Given the description of an element on the screen output the (x, y) to click on. 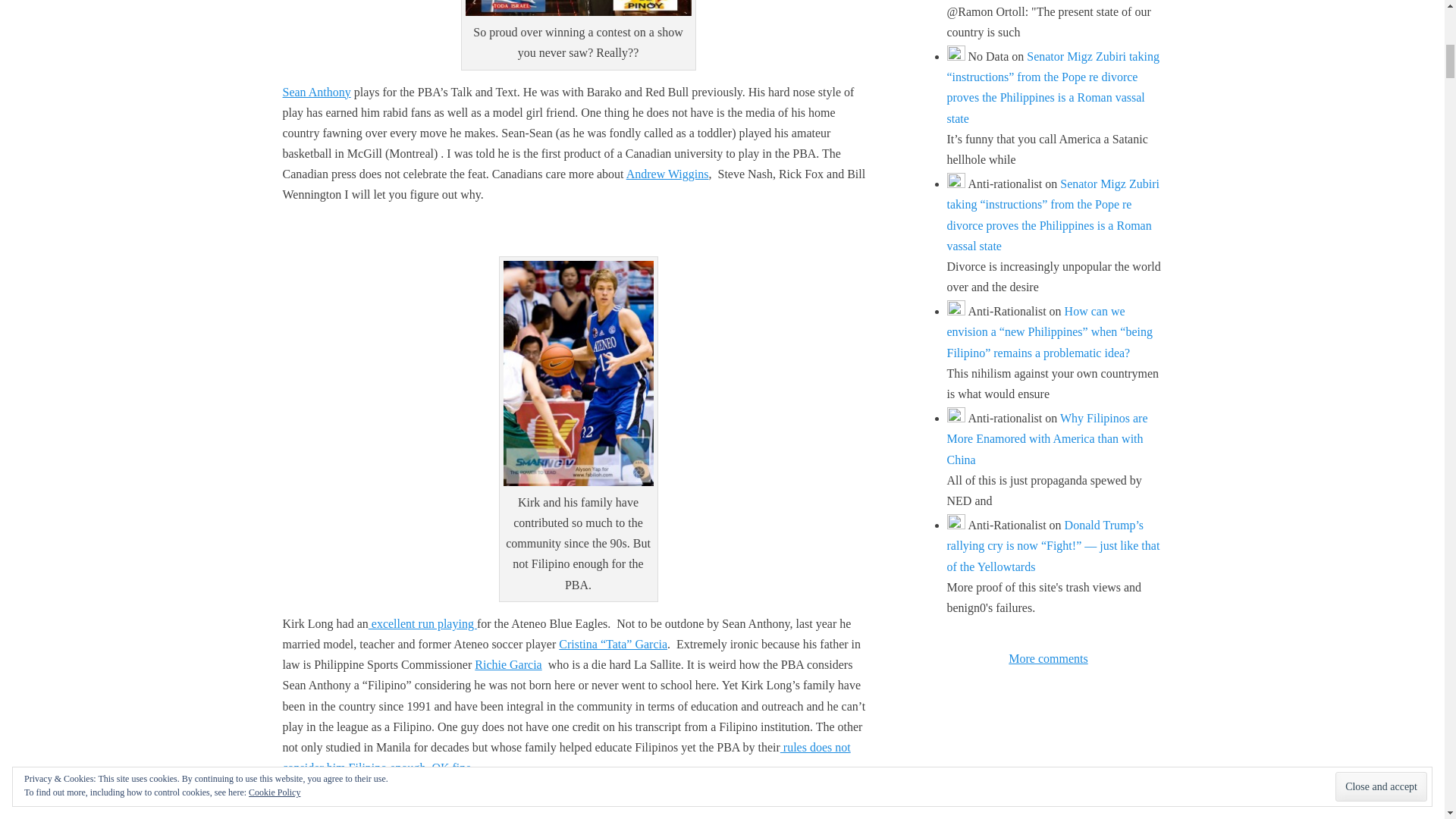
Herb  (452, 767)
Andrew Wiggins (667, 173)
excellent run playing (422, 623)
rules does not consider him Filipino enough (566, 757)
OK fine. (452, 767)
Sean Anthony (316, 91)
Richie Garcia (507, 664)
